Given the description of an element on the screen output the (x, y) to click on. 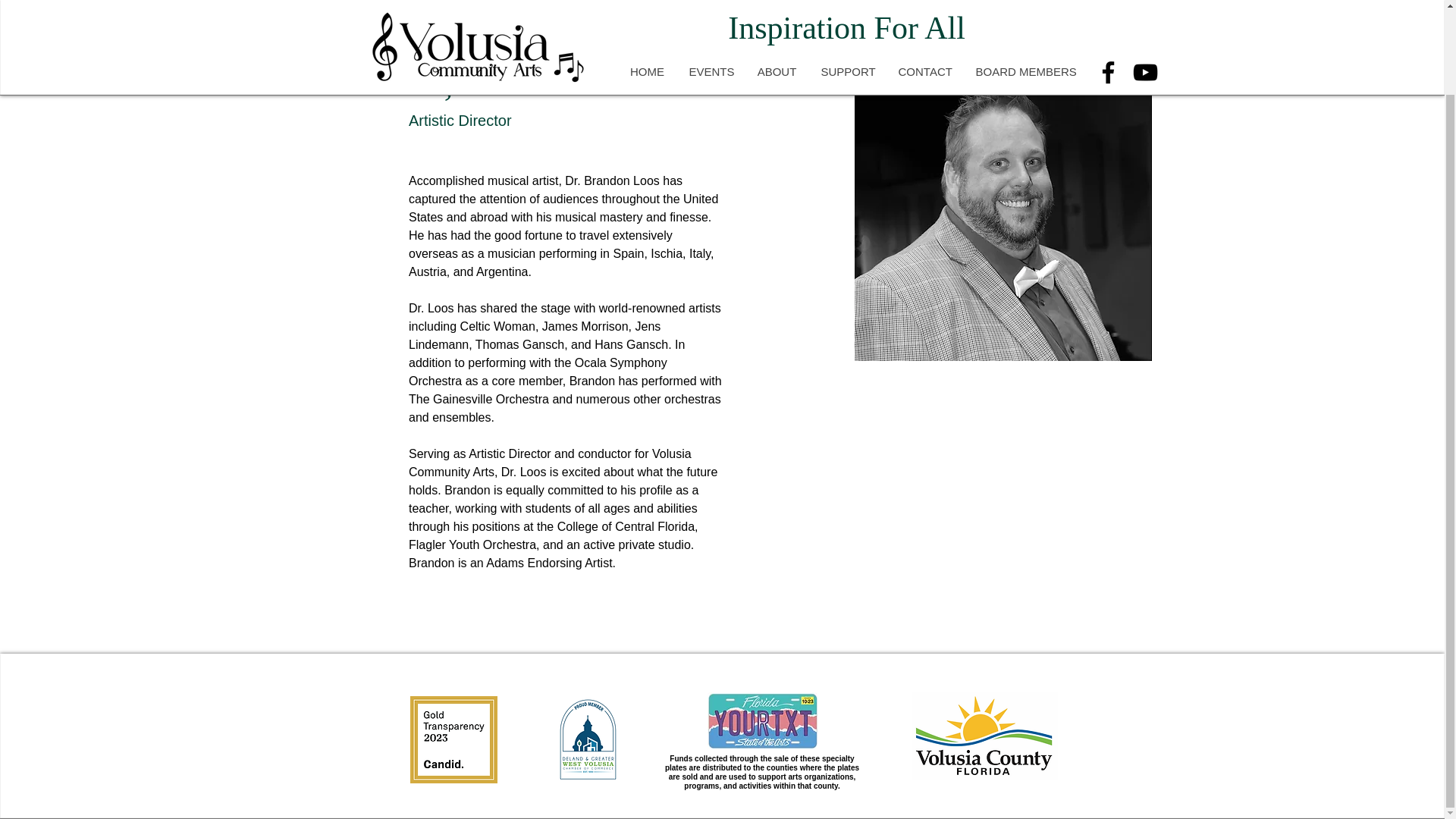
VolusiaCountyLogo.png (984, 735)
A-Brandon Loos.jpg (1002, 212)
